Given the description of an element on the screen output the (x, y) to click on. 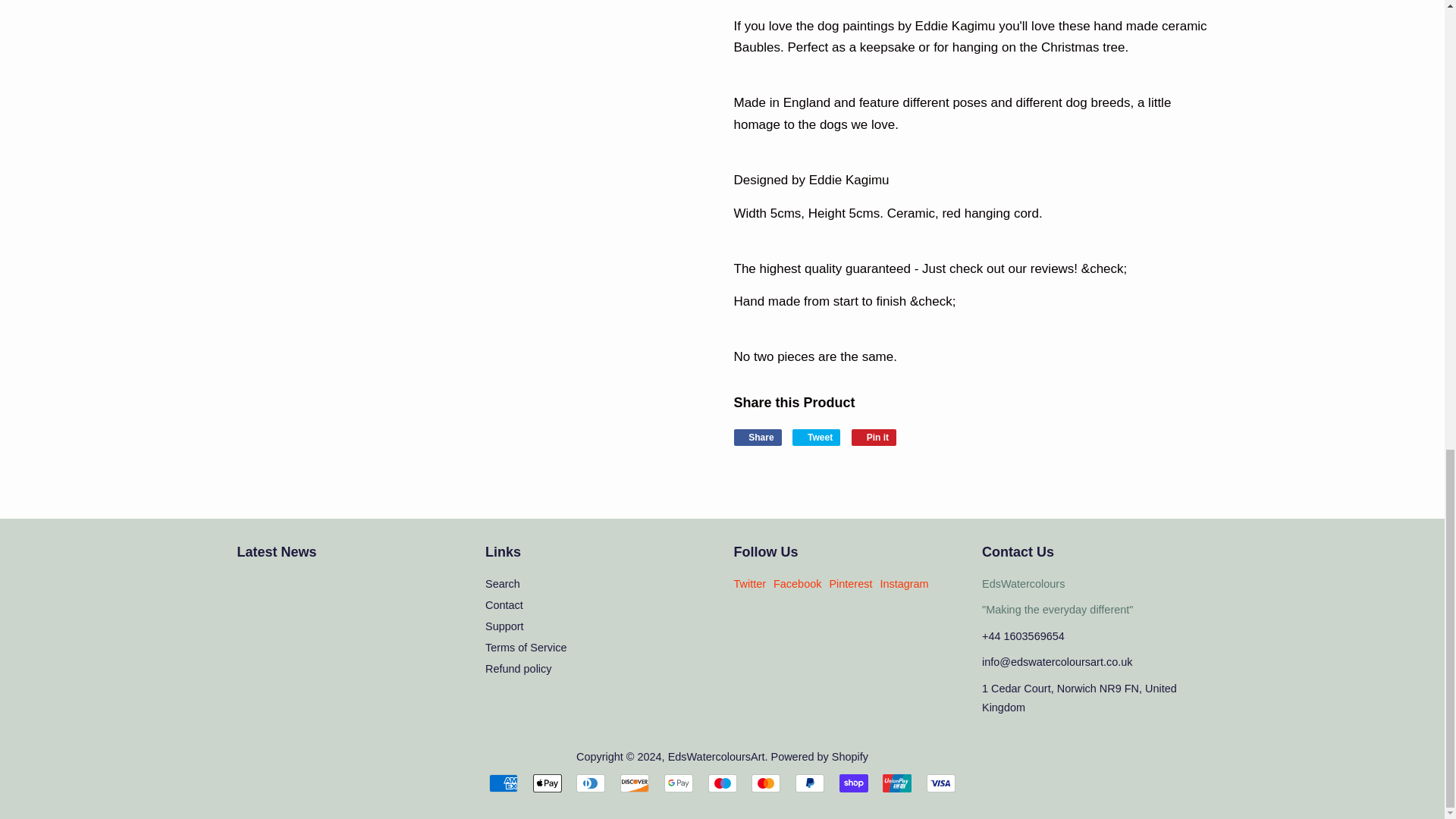
American Express (503, 782)
Pin on Pinterest (873, 437)
Google Pay (678, 782)
Visa (940, 782)
Union Pay (896, 782)
Shop Pay (853, 782)
EdsWatercoloursArt on Twitter (750, 583)
PayPal (809, 782)
CONTACT (1056, 609)
EdsWatercoloursArt on Facebook (797, 583)
